Given the description of an element on the screen output the (x, y) to click on. 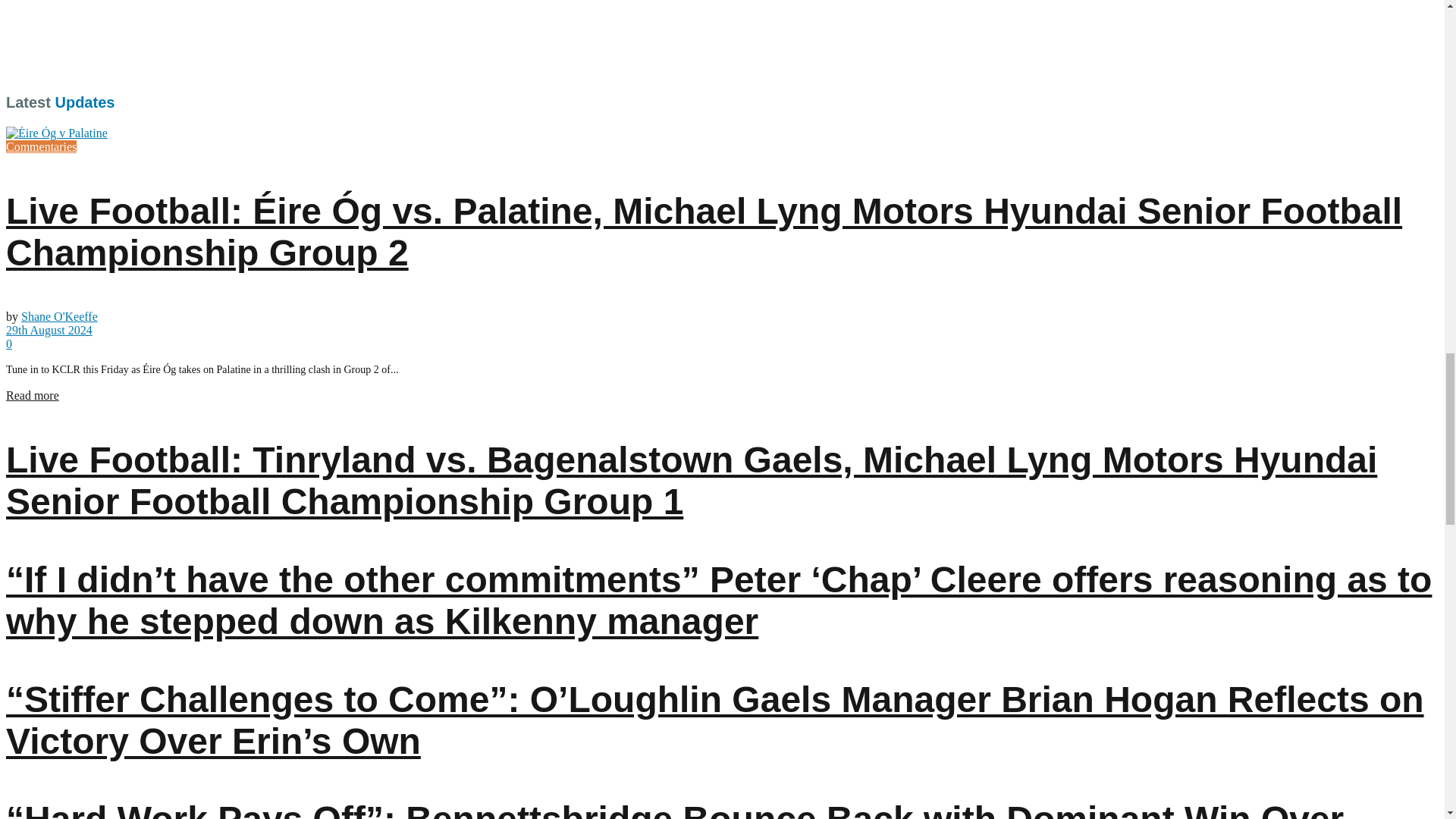
29th August 2024 (49, 329)
Read more (32, 395)
Shane O'Keeffe (59, 316)
Commentaries (41, 146)
TURLOUGH O'BRIEN PRE O'BYRNE CUP OPENER by KCLR96FM (195, 36)
